Given the description of an element on the screen output the (x, y) to click on. 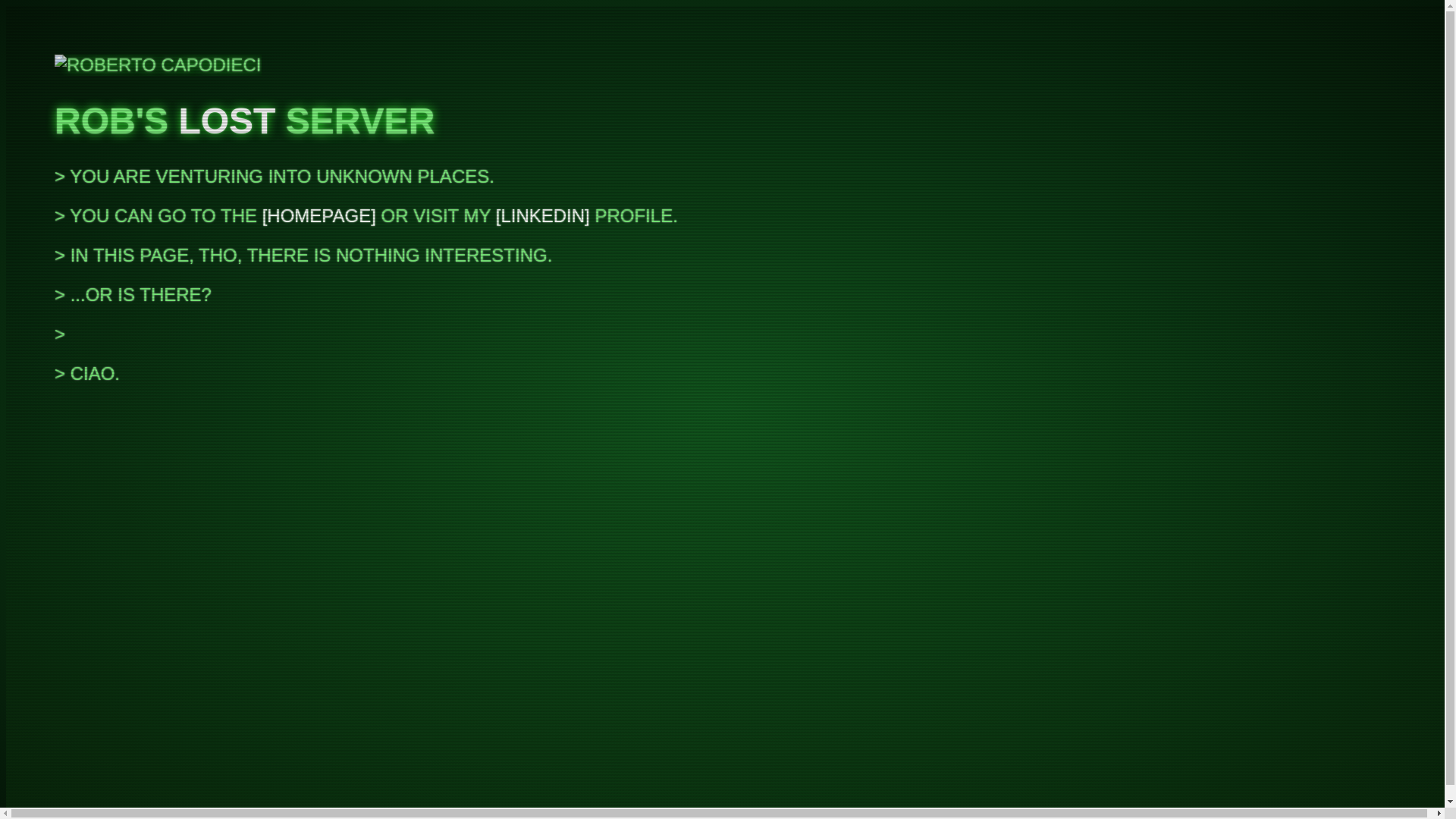
LINKEDIN (542, 215)
HOMEPAGE (318, 215)
